Given the description of an element on the screen output the (x, y) to click on. 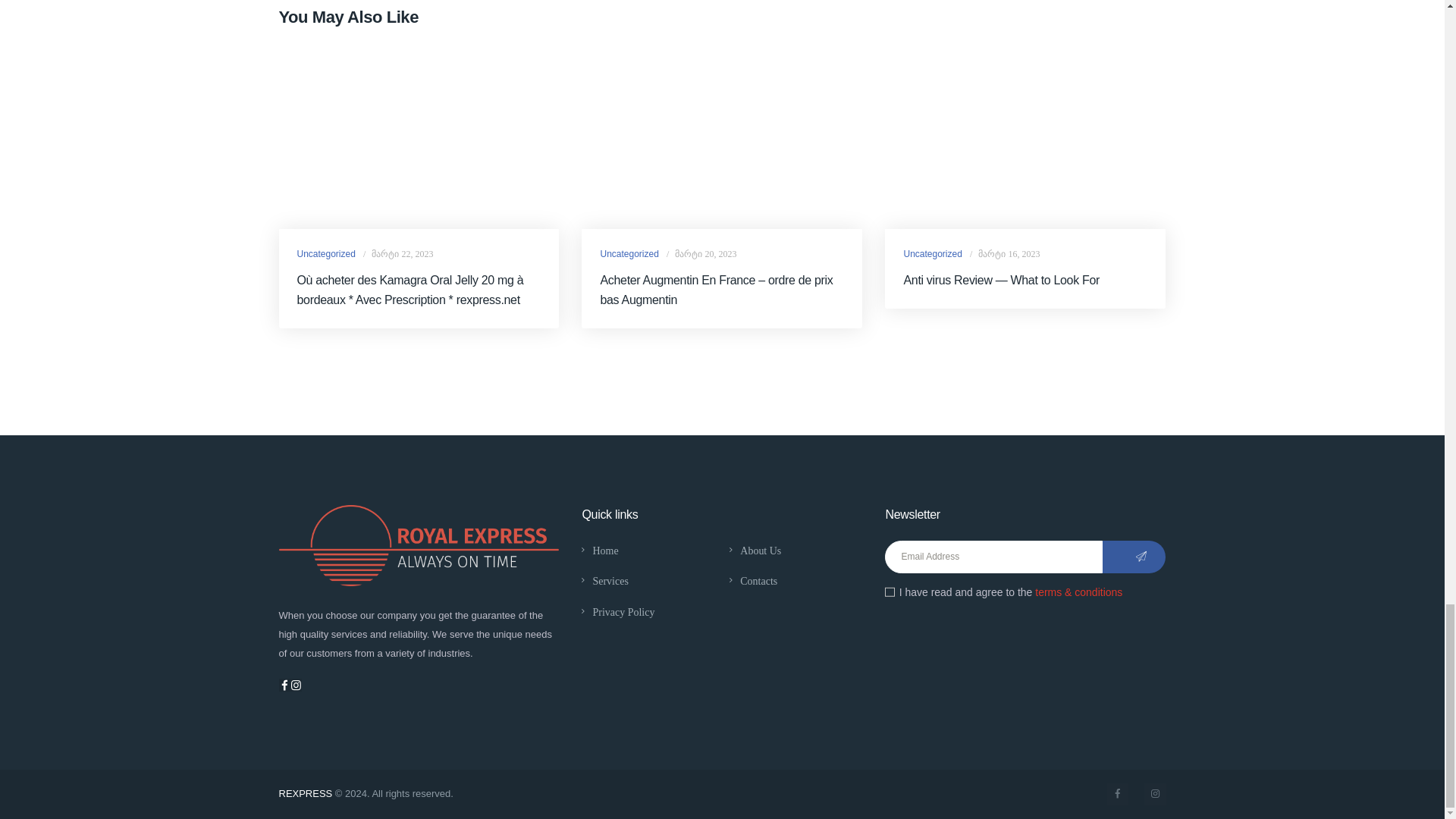
View all posts in Uncategorized (326, 253)
View all posts in Uncategorized (628, 253)
View all posts in Uncategorized (931, 253)
